Given the description of an element on the screen output the (x, y) to click on. 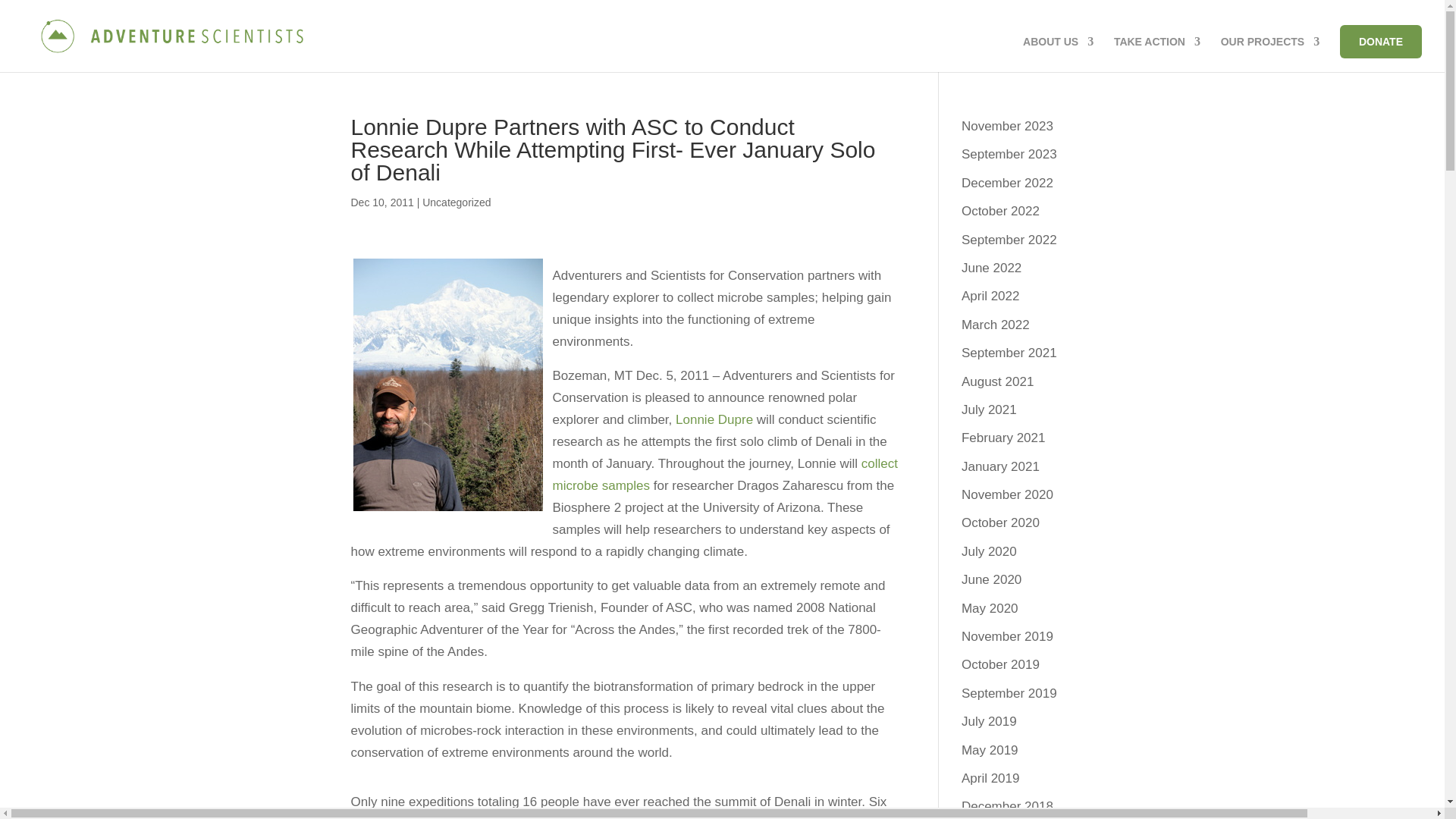
December 2022 (1006, 183)
DONATE (1380, 41)
TAKE ACTION (1156, 54)
November 2023 (1006, 125)
September 2023 (1008, 154)
OUR PROJECTS (1270, 54)
ABOUT US (1058, 54)
Lonnie Dupre (713, 419)
collect microbe samples (724, 474)
